Given the description of an element on the screen output the (x, y) to click on. 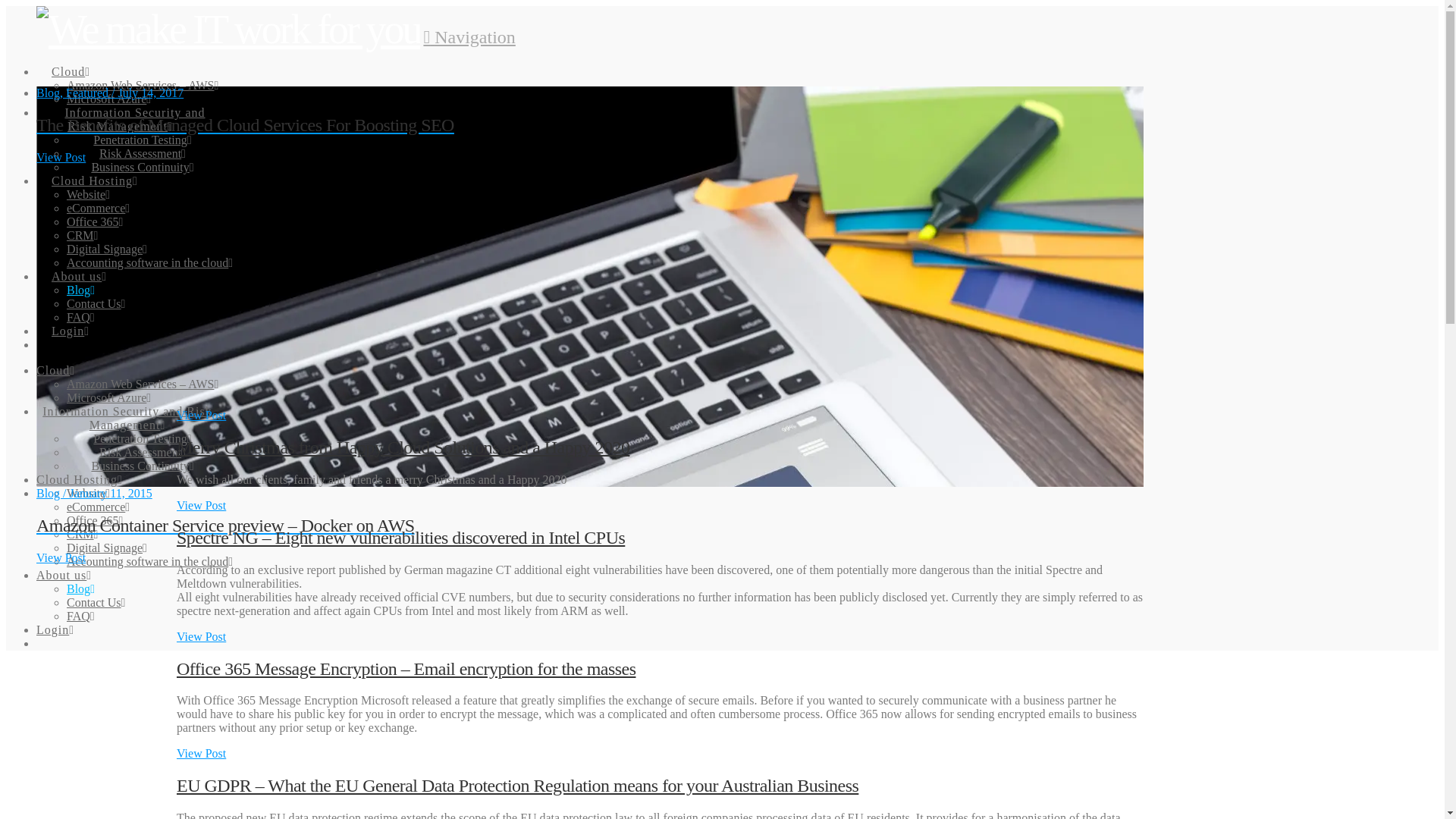
Cloud Hosting (94, 167)
Digital Signage (106, 248)
Login (69, 317)
We make IT work for you (228, 29)
Office 365 (94, 520)
Website (88, 194)
Microsoft Azure (108, 98)
Penetration Testing (141, 438)
Contact Us (95, 303)
